Given the description of an element on the screen output the (x, y) to click on. 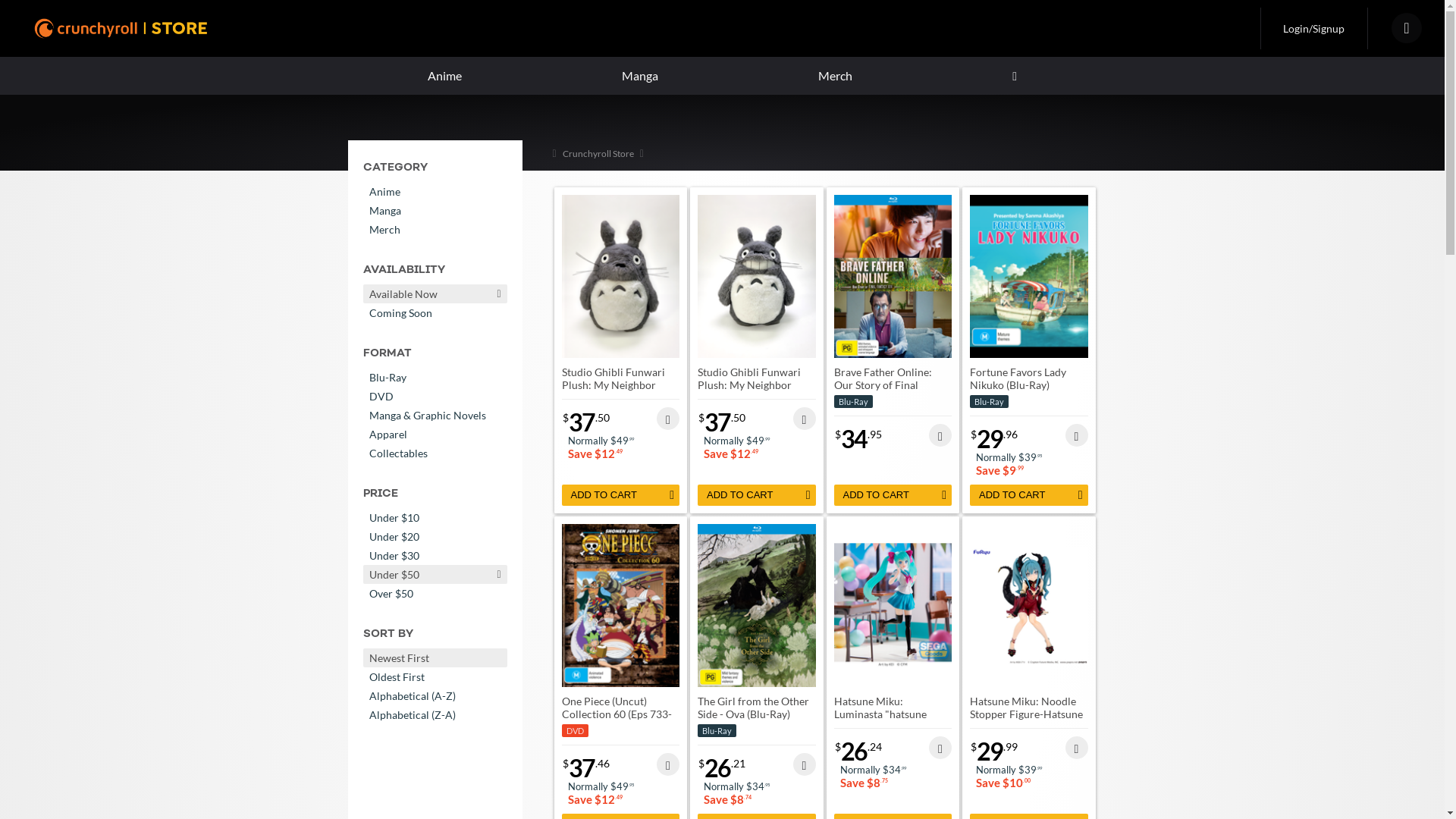
Add to My Wishlist Element type: hover (1075, 747)
ADD TO CART Element type: text (893, 494)
Under $50 Element type: text (434, 573)
Newest First Element type: text (434, 657)
Apparel Element type: text (434, 433)
Add to My Wishlist Element type: hover (804, 418)
Merch Element type: text (434, 228)
Brave Father Online: Our Story of Final Fantasy Xi... Element type: text (882, 384)
Merch Element type: text (835, 75)
Collectables Element type: text (434, 452)
Login/Signup Element type: text (1313, 28)
Alphabetical (Z-A) Element type: text (434, 714)
Over $50 Element type: text (434, 592)
Add to My Wishlist Element type: hover (804, 764)
Studio Ghibli Funwari Plush: My Neighbor Totoro - ... Element type: text (612, 384)
Anime Element type: text (434, 191)
Manga & Graphic Novels Element type: text (434, 414)
One Piece (Uncut) Collection 60 (Eps 733-746) Element type: text (616, 713)
Add to My Wishlist Element type: hover (1075, 434)
ADD TO CART Element type: text (756, 494)
Hatsune Miku: Luminasta "hatsune Miku 16th Anniver... Element type: text (881, 713)
Under $20 Element type: text (434, 536)
Add to My Wishlist Element type: hover (939, 747)
Manga Element type: text (640, 75)
ADD TO CART Element type: text (620, 494)
Blu-Ray Element type: text (434, 376)
The Girl from the Other Side - Ova (Blu-Ray) Element type: text (753, 707)
Available Now Element type: text (434, 293)
One Piece (Uncut) Collection 60 (Eps 733-746) Element type: hover (620, 605)
Manga Element type: text (434, 209)
Under $10 Element type: text (434, 517)
Anime Element type: text (444, 75)
Hatsune Miku: Luminasta  Element type: hover (893, 605)
Studio Ghibli Funwari Plush: My Neighbor Totoro - ... Element type: text (748, 384)
Fortune Favors Lady Nikuko (Blu-Ray) Element type: text (1017, 378)
Crunchyroll Store Element type: hover (123, 28)
Alphabetical (A-Z) Element type: text (434, 695)
Under $30 Element type: text (434, 555)
Hatsune Miku: Noodle Stopper Figure-Hatsune Miku V... Element type: text (1025, 713)
Add to My Wishlist Element type: hover (667, 764)
Oldest First Element type: text (434, 676)
Add to My Wishlist Element type: hover (667, 418)
The Girl from the Other Side - Ova (Blu-Ray) Element type: hover (756, 605)
Fortune Favors Lady Nikuko (Blu-Ray) Element type: hover (1028, 275)
Coming Soon Element type: text (434, 312)
Add to My Wishlist Element type: hover (939, 434)
Crunchyroll Store Element type: text (598, 153)
DVD Element type: text (434, 395)
ADD TO CART Element type: text (1028, 494)
